Given the description of an element on the screen output the (x, y) to click on. 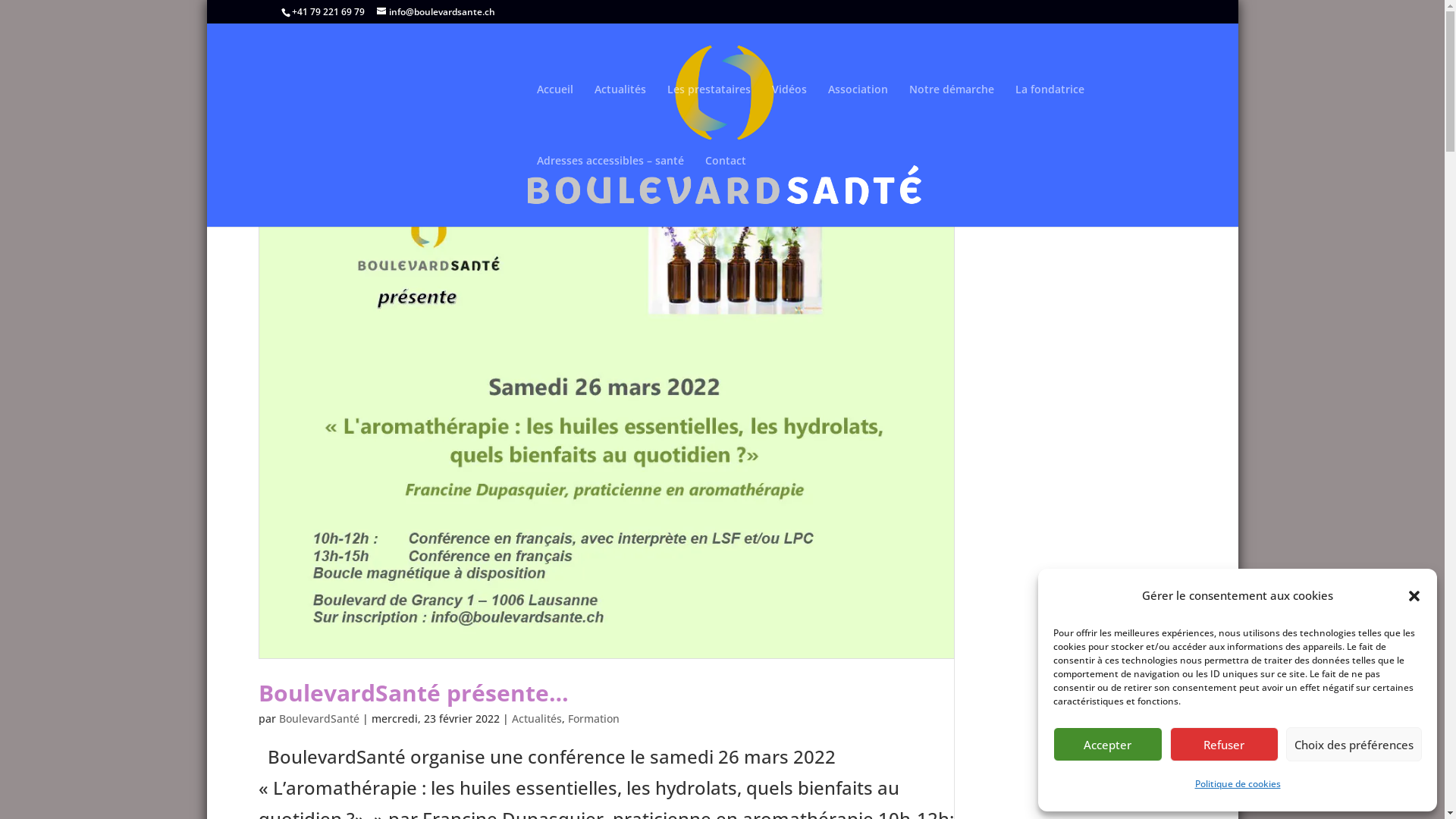
Formation Element type: text (592, 718)
La fondatrice Element type: text (1048, 119)
Contact Element type: text (725, 190)
Refuser Element type: text (1223, 744)
Politique de cookies Element type: text (1237, 784)
Association Element type: text (858, 119)
Les prestataires Element type: text (708, 119)
info@boulevardsante.ch Element type: text (435, 11)
Accueil Element type: text (554, 119)
Accepter Element type: text (1107, 744)
